Given the description of an element on the screen output the (x, y) to click on. 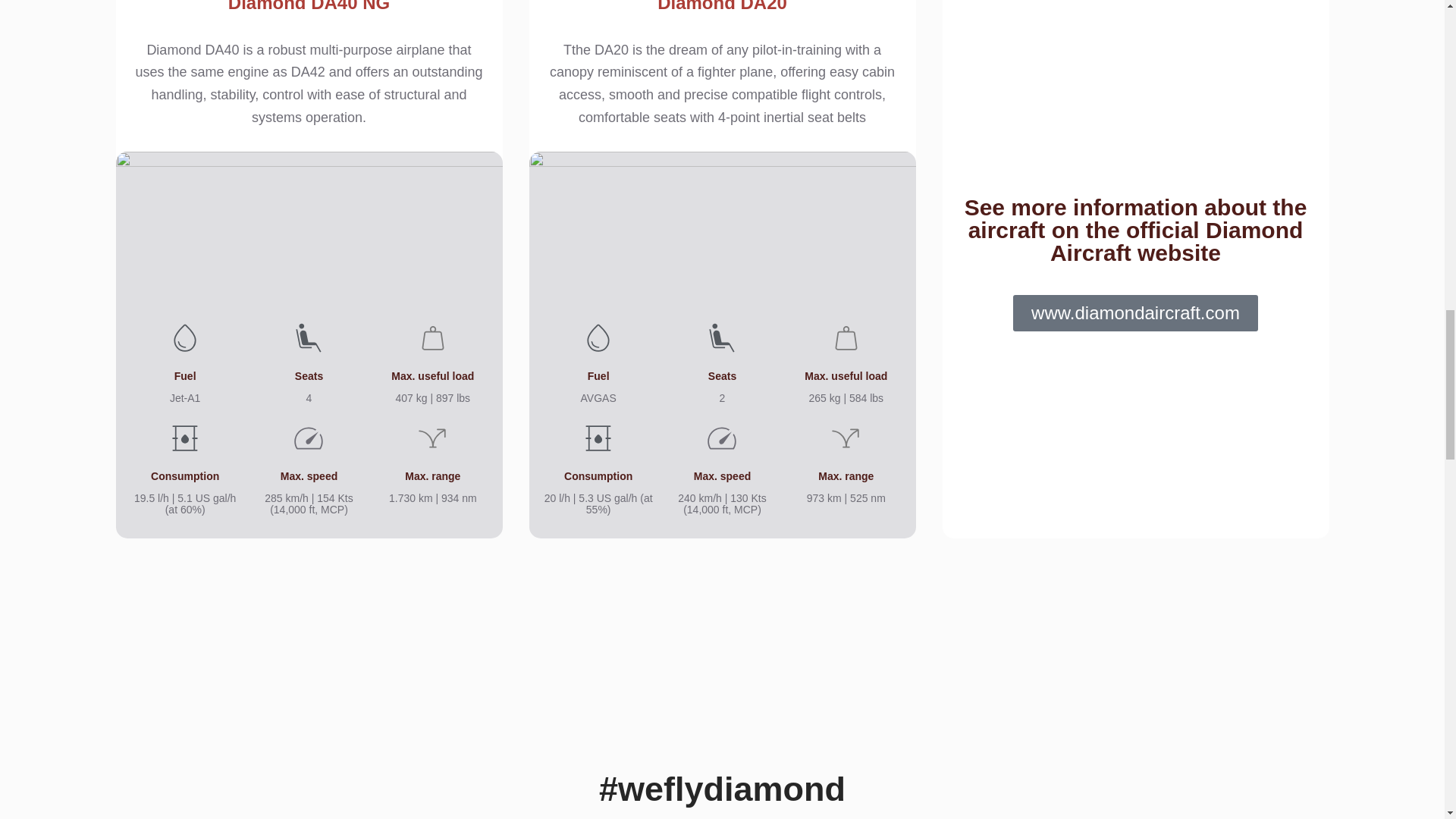
www.diamondaircraft.com (1135, 312)
